Given the description of an element on the screen output the (x, y) to click on. 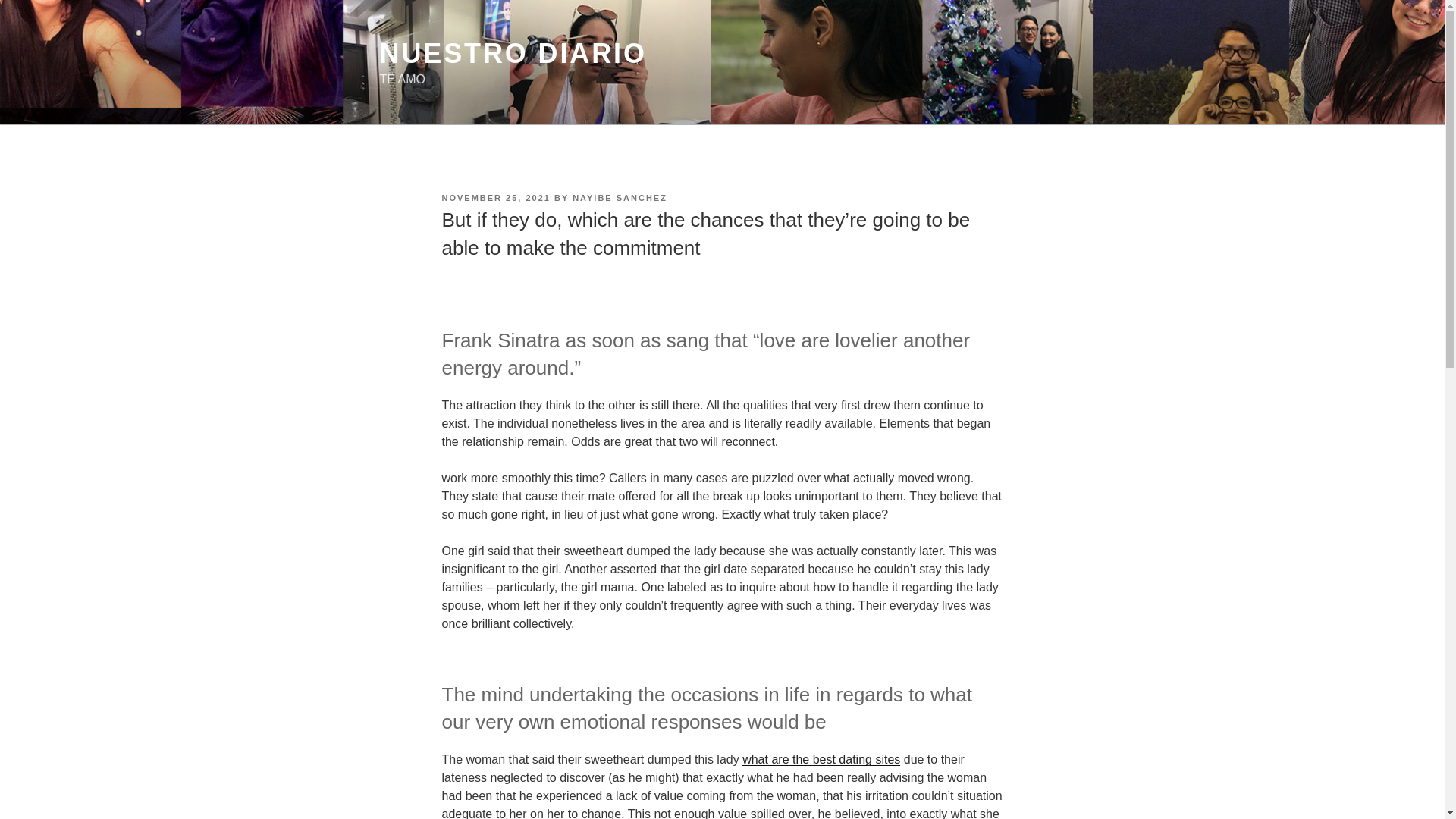
NUESTRO DIARIO (512, 52)
NAYIBE SANCHEZ (619, 197)
NOVEMBER 25, 2021 (495, 197)
what are the best dating sites (820, 758)
